Given the description of an element on the screen output the (x, y) to click on. 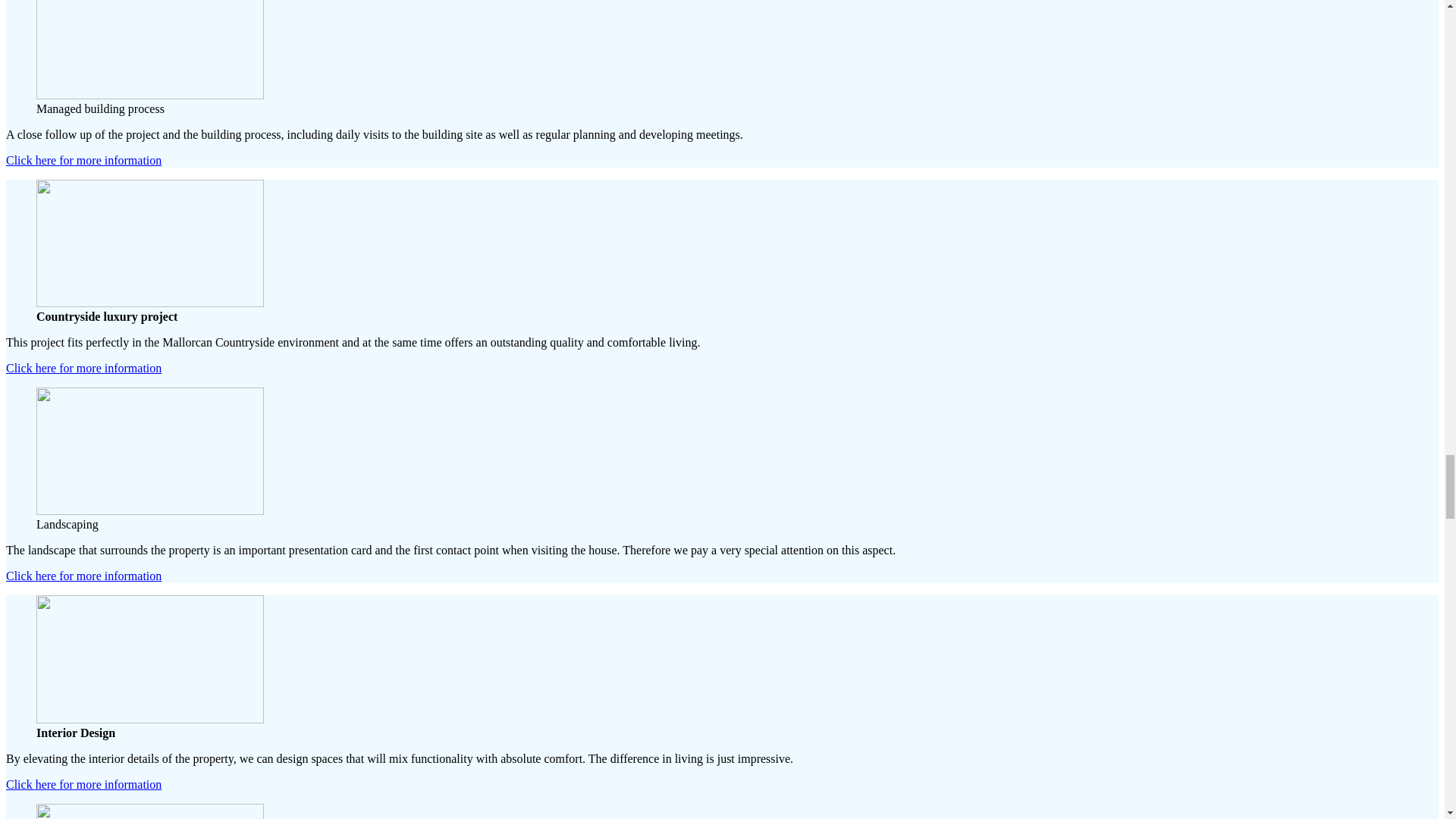
Click here for more information (83, 575)
Click here for more information (83, 160)
Click here for more information (83, 367)
